Given the description of an element on the screen output the (x, y) to click on. 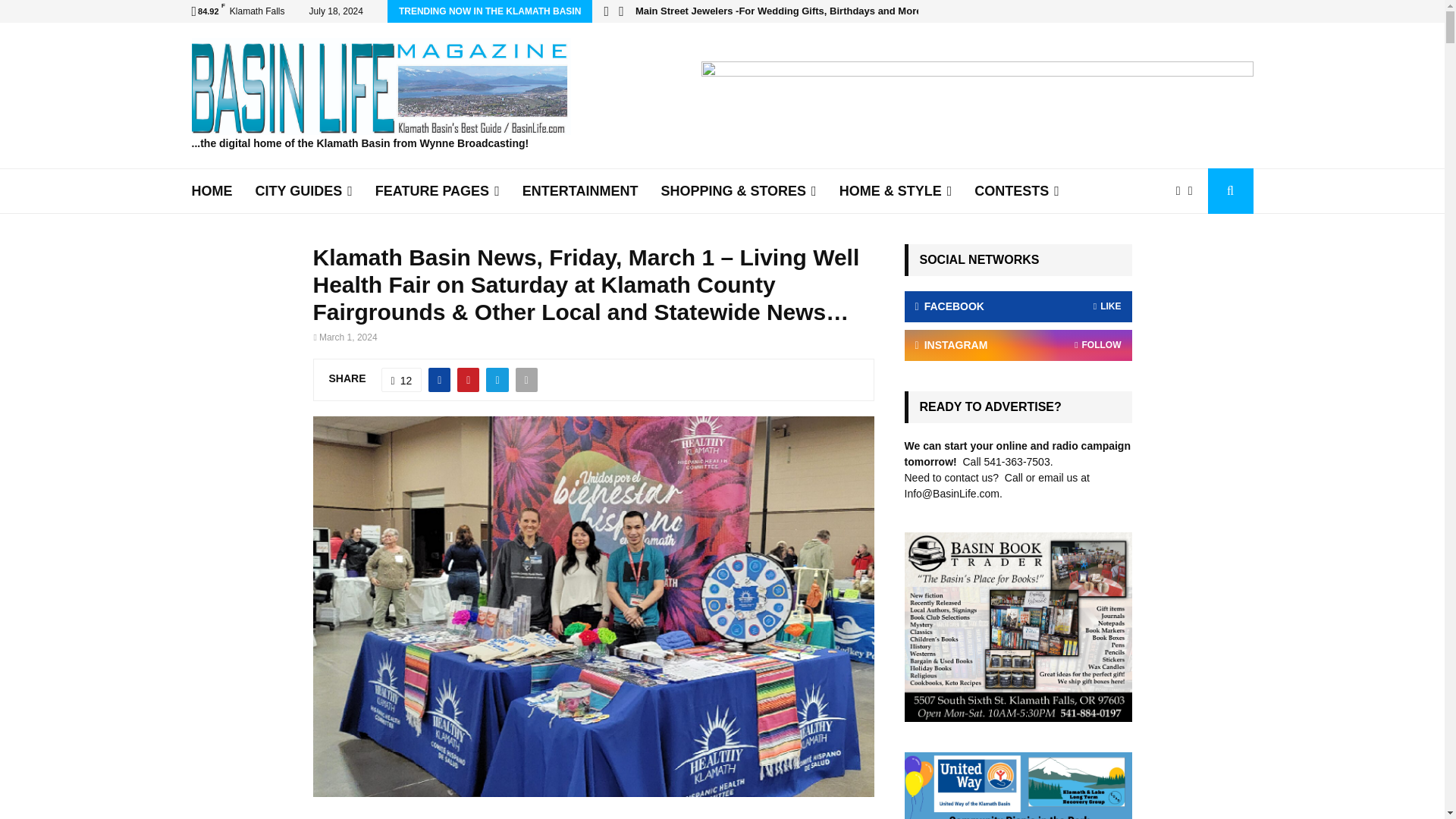
Main Street Jewelers -For Wedding Gifts, Birthdays and More! (779, 10)
Like (401, 379)
